Given the description of an element on the screen output the (x, y) to click on. 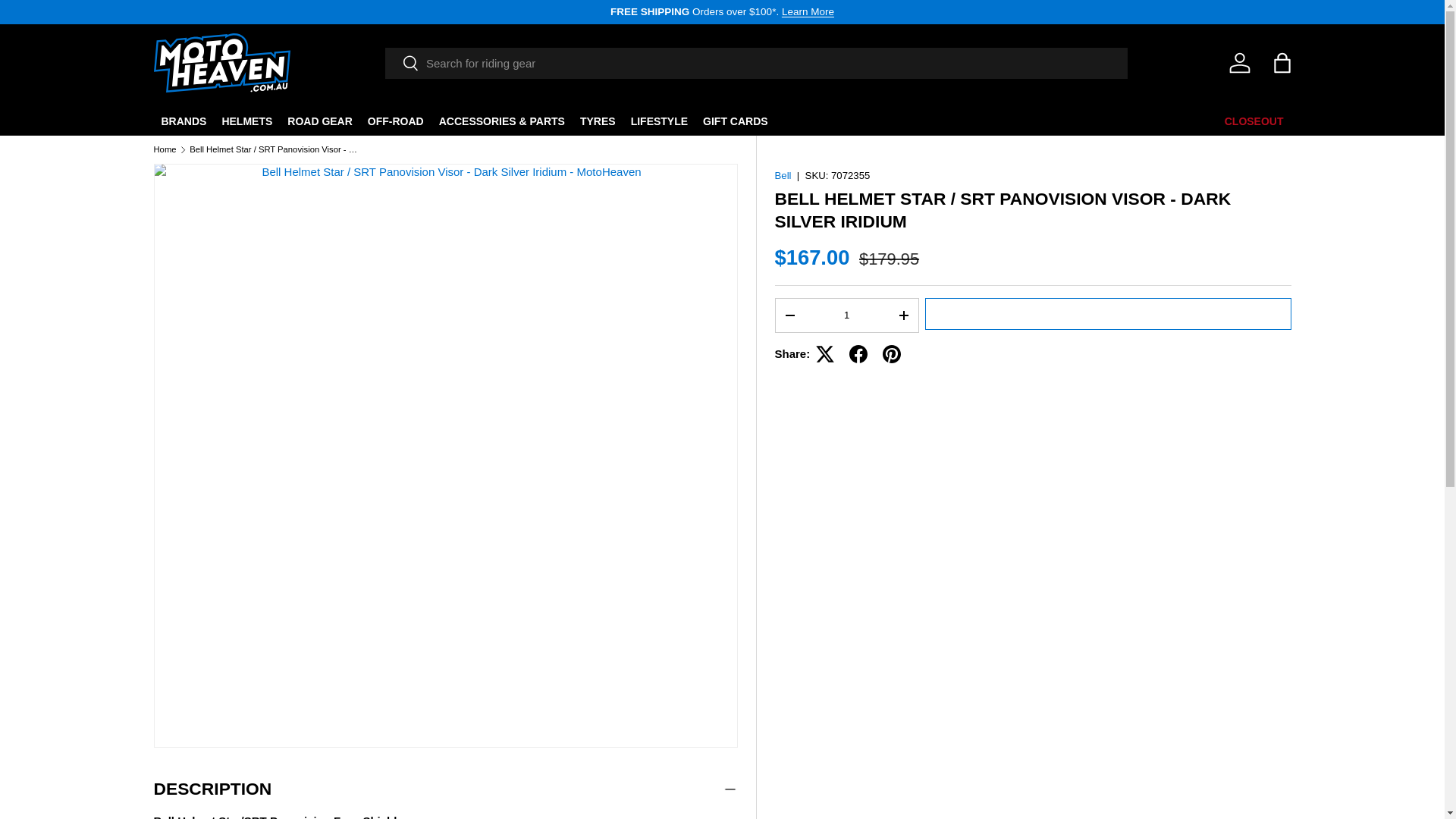
Bag (1281, 62)
BRANDS (183, 121)
Log in (1239, 62)
Learn More (807, 11)
Share on Facebook (858, 354)
SKIP TO CONTENT (68, 21)
Search (402, 63)
Shipping Policy (807, 11)
Tweet on X (824, 354)
1 (845, 315)
Pin on Pinterest (891, 354)
